Given the description of an element on the screen output the (x, y) to click on. 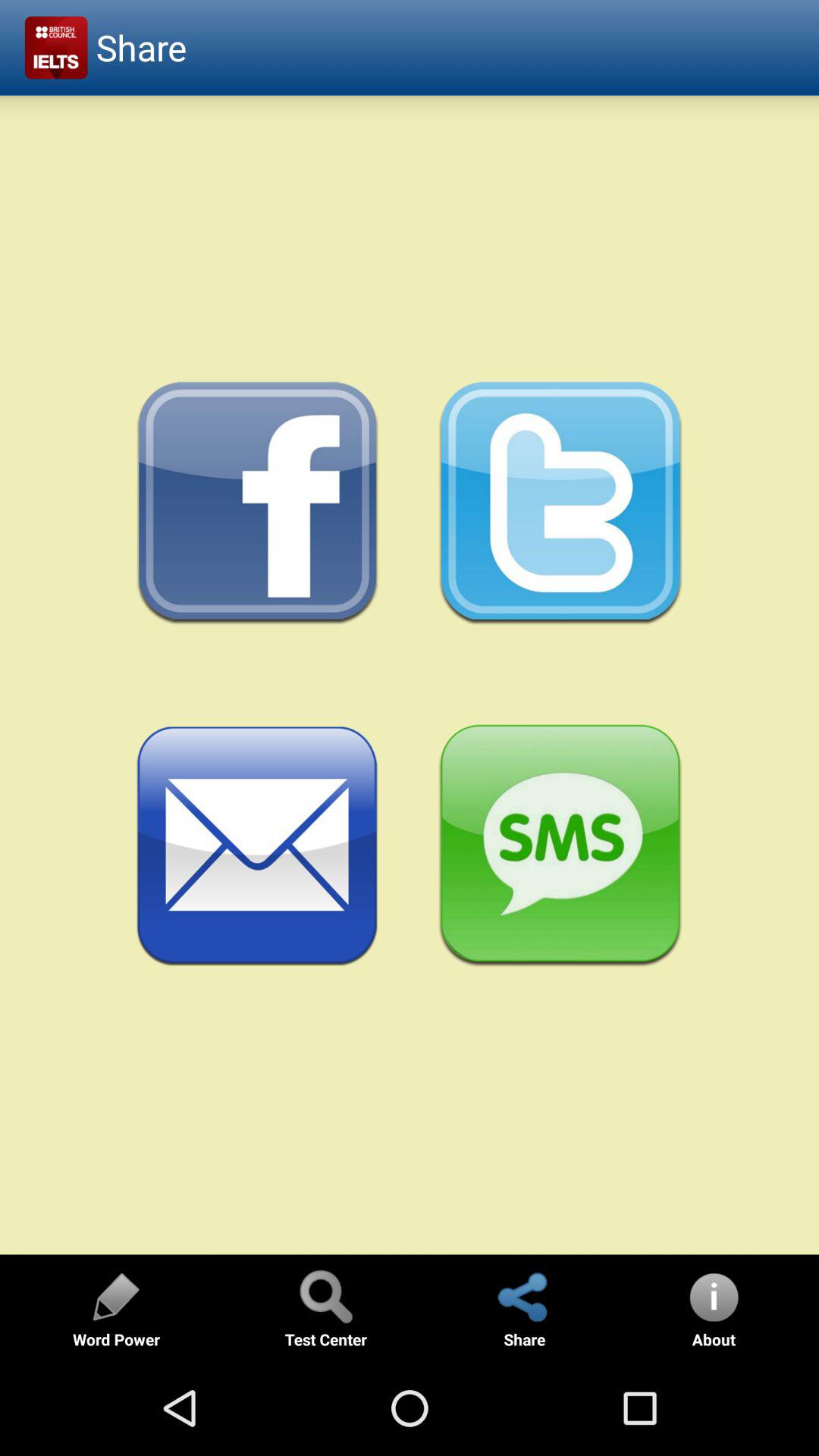
search for help (325, 1296)
